Given the description of an element on the screen output the (x, y) to click on. 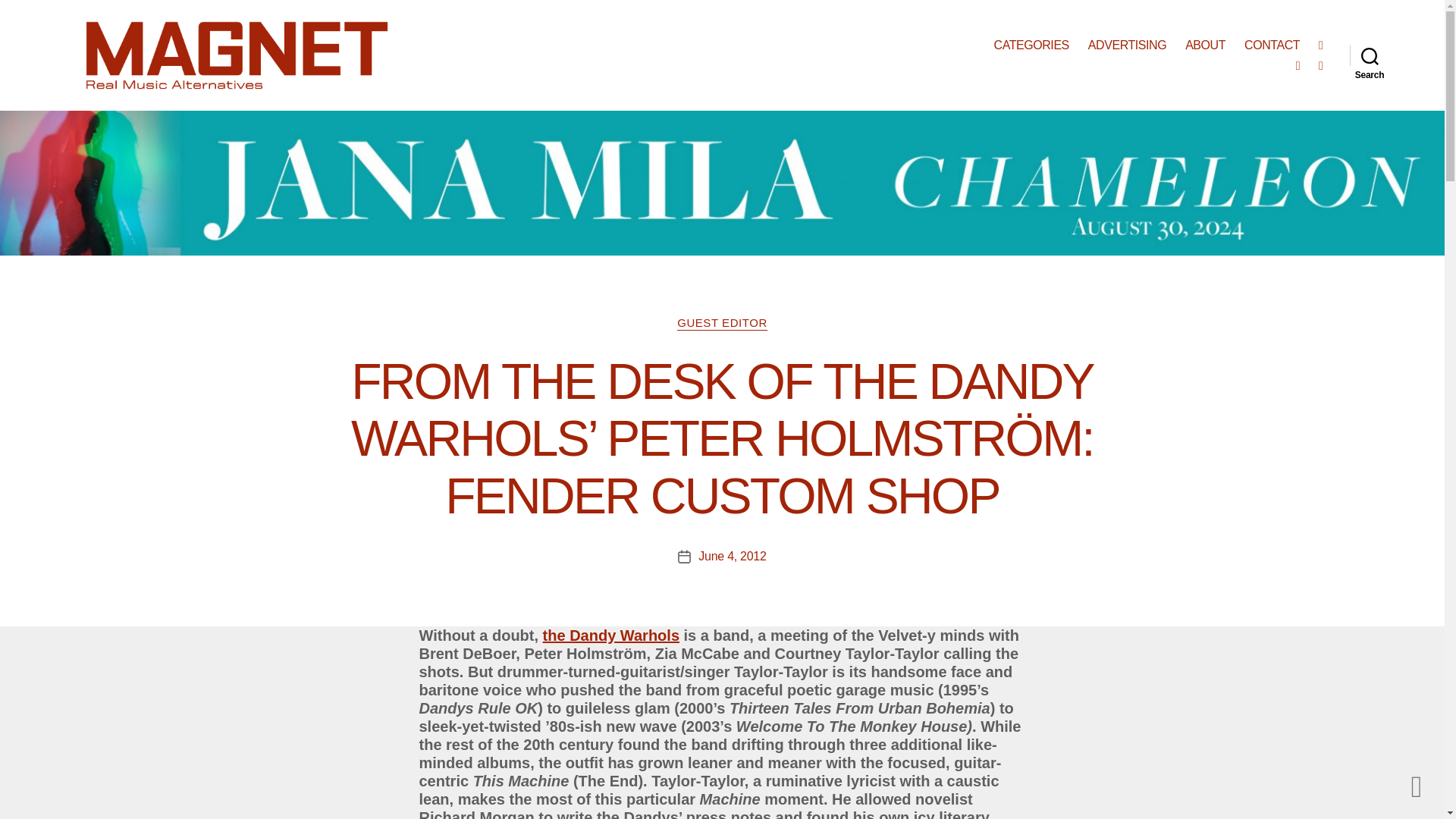
CONTACT (1272, 44)
Search (1369, 55)
CATEGORIES (1031, 44)
ADVERTISING (1126, 44)
GUEST EDITOR (722, 322)
June 4, 2012 (731, 555)
the Dandy Warhols (611, 635)
ABOUT (1205, 44)
